Given the description of an element on the screen output the (x, y) to click on. 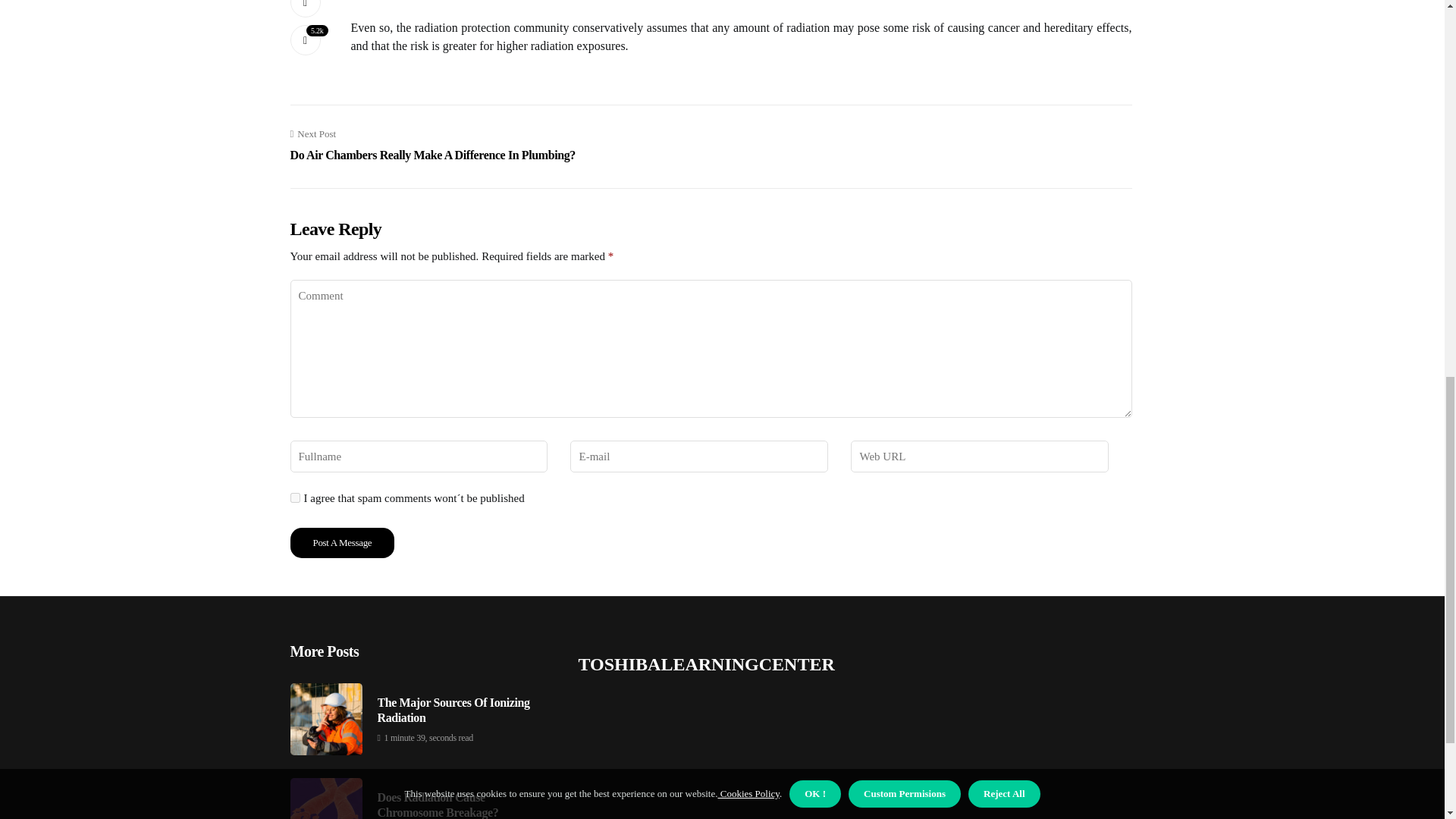
Post a Message (341, 542)
yes (294, 497)
Post a Message (341, 542)
